Given the description of an element on the screen output the (x, y) to click on. 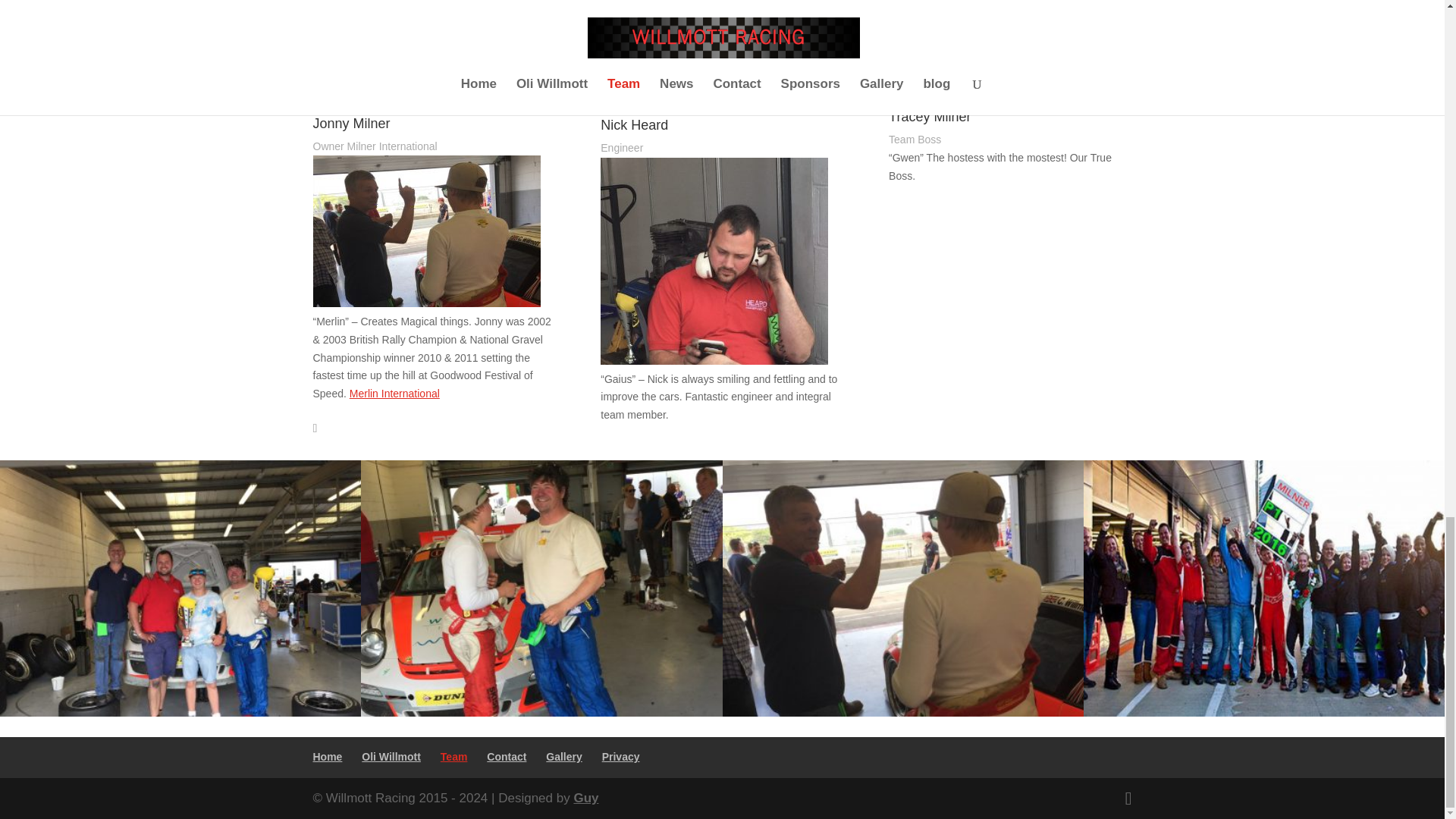
Team (454, 756)
Home (327, 756)
Gallery (563, 756)
Oli Willmott (390, 756)
Ski Hire Wengen (352, 65)
Merlin International (394, 393)
Contact (505, 756)
Privacy (621, 756)
Guy (585, 798)
